Given the description of an element on the screen output the (x, y) to click on. 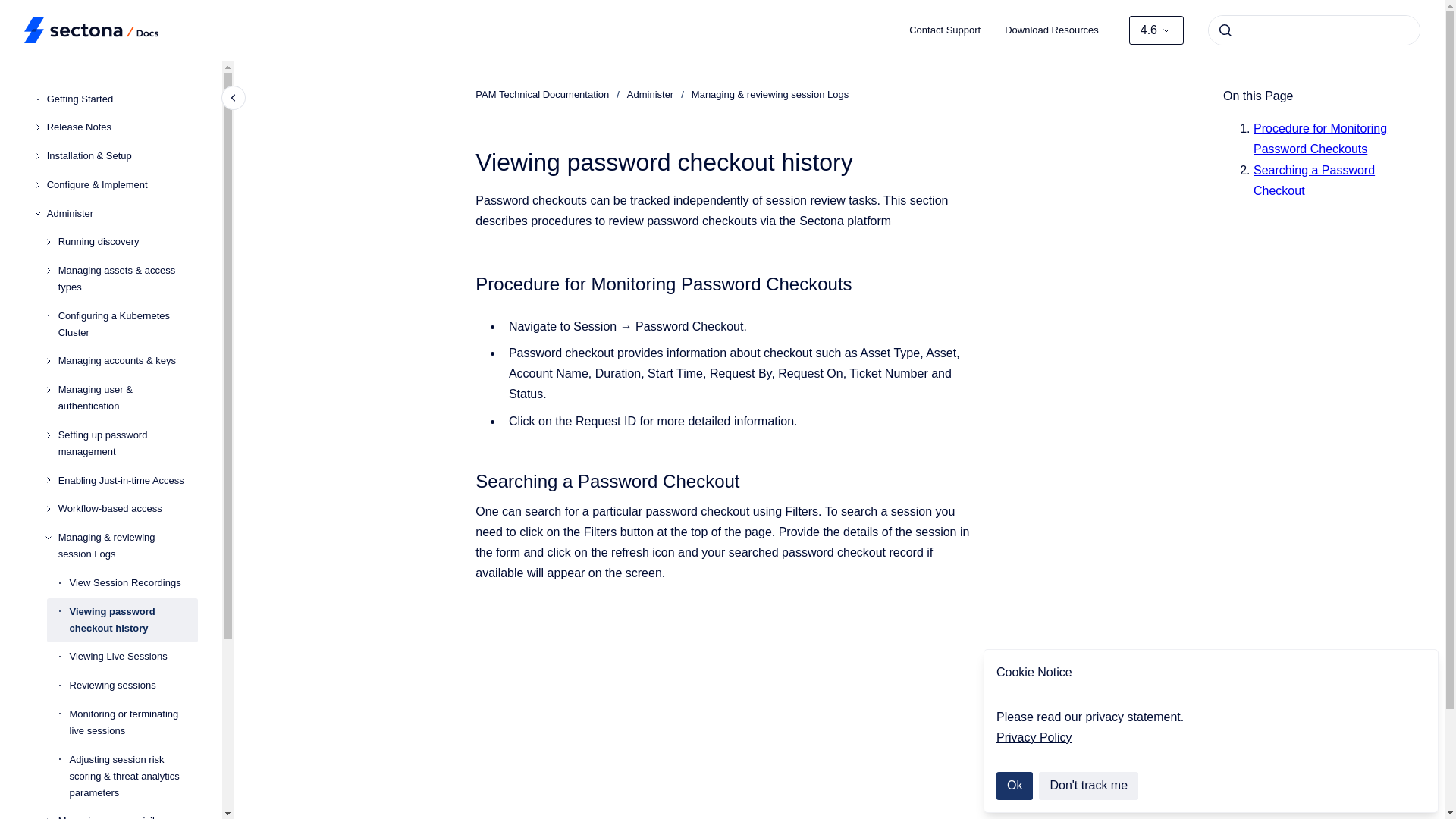
Viewing password checkout history (133, 620)
Copy to clipboard (468, 479)
Setting up password management (128, 443)
4.6 (1156, 30)
Privacy Policy (1033, 737)
Workflow-based access (128, 509)
Download Resources (1051, 29)
Contact Support (944, 29)
Ok (1013, 786)
Go to homepage (91, 29)
Getting Started (122, 99)
View Session Recordings (133, 583)
Viewing Live Sessions (133, 656)
Don't track me (1088, 786)
Running discovery (128, 241)
